Given the description of an element on the screen output the (x, y) to click on. 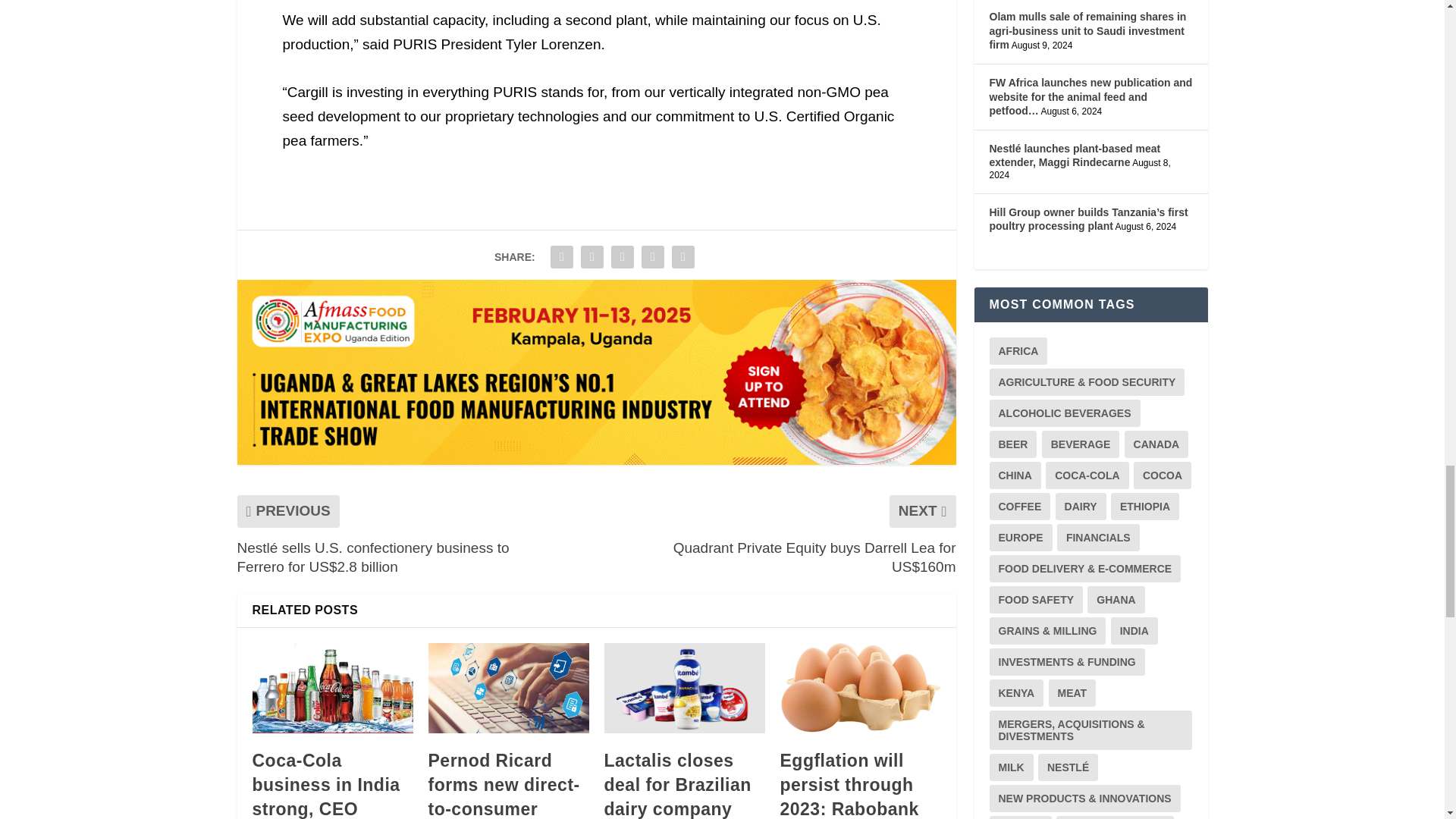
Coca-Cola business in India strong, CEO denies struggles (331, 687)
Eggflation will persist through 2023: Rabobank report (859, 687)
